Given the description of an element on the screen output the (x, y) to click on. 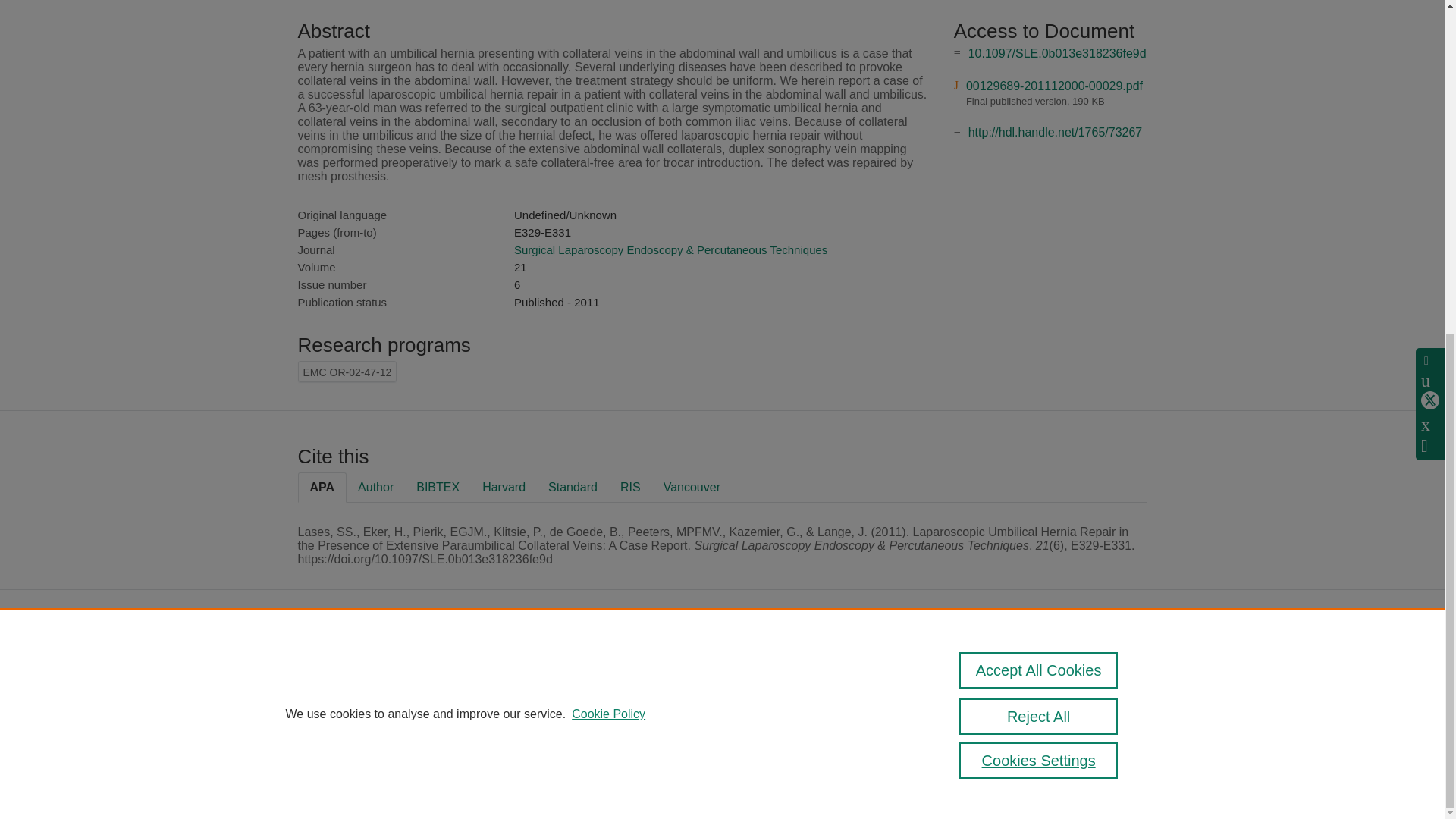
Pure (620, 665)
Cookie Policy (608, 155)
use of cookies (614, 740)
About web accessibility (1081, 708)
00129689-201112000-00029.pdf (1054, 85)
Cookies Settings (1038, 203)
Log in to Pure (584, 781)
Scopus (652, 665)
Erasmus University Rotterdam data protection policy (1087, 676)
Elsevier B.V. (764, 685)
